Given the description of an element on the screen output the (x, y) to click on. 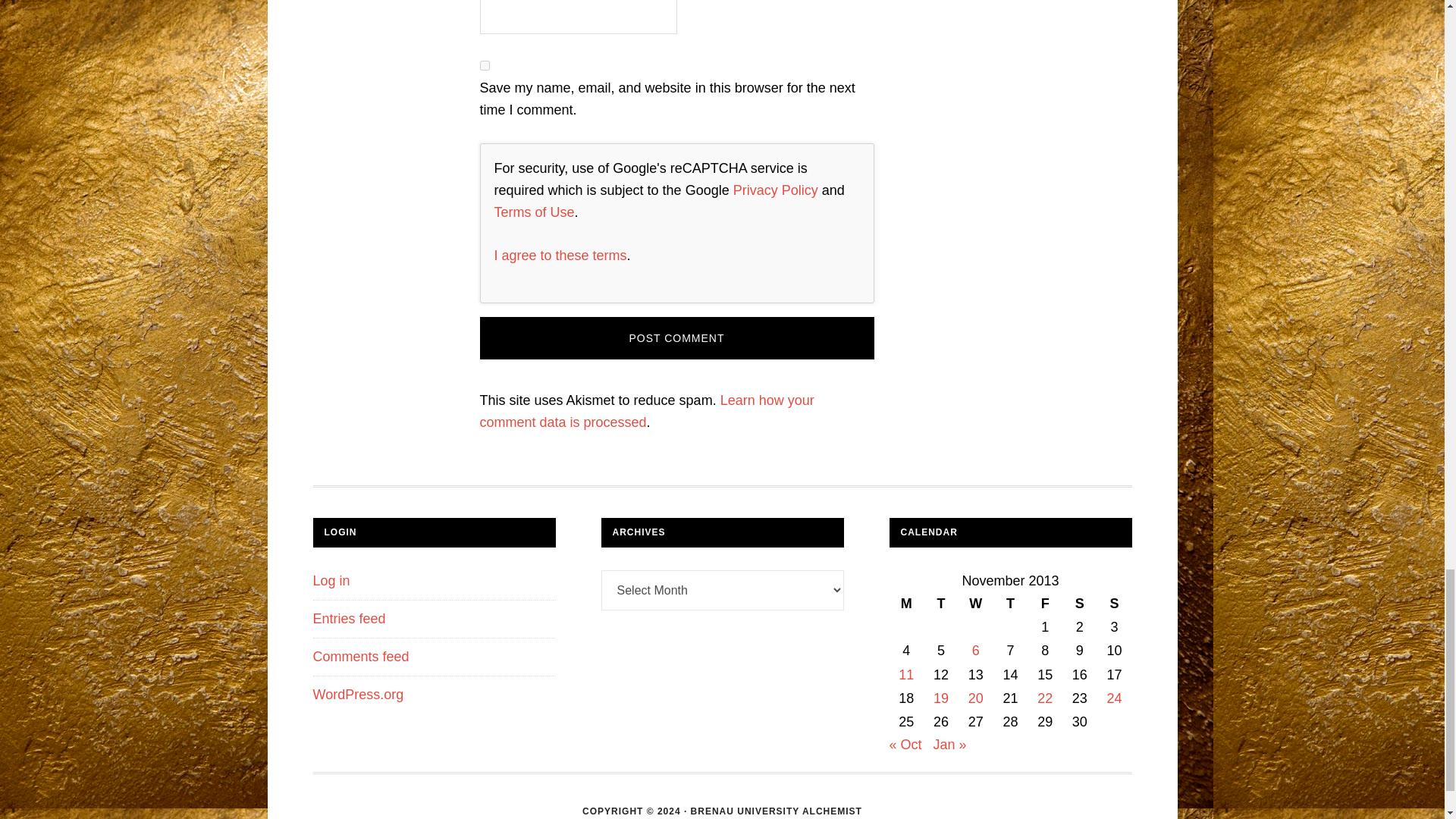
20 (976, 698)
Entries feed (349, 618)
Thursday (1009, 603)
22 (1044, 698)
Friday (1044, 603)
Post Comment (676, 337)
11 (906, 674)
Tuesday (940, 603)
Post Comment (676, 337)
WordPress.org (358, 694)
Log in (331, 580)
Privacy Policy (775, 190)
Sunday (1114, 603)
Comments feed (361, 656)
Terms of Use (535, 212)
